Given the description of an element on the screen output the (x, y) to click on. 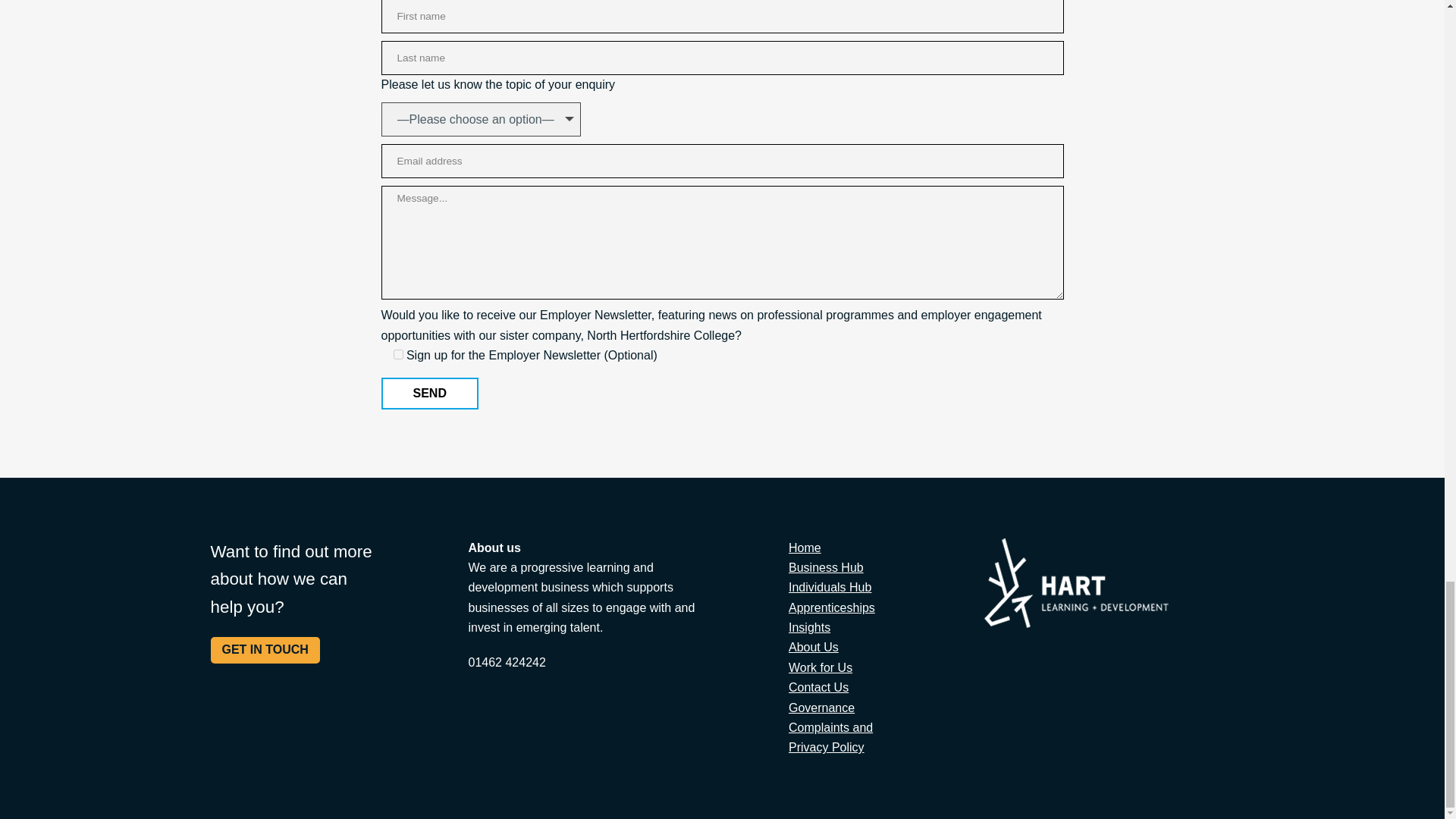
Complaints and Privacy Policy (830, 737)
1 (398, 354)
Governance (821, 707)
Home (805, 547)
GET IN TOUCH (265, 649)
Send (428, 393)
Individuals Hub (829, 586)
Insights (809, 626)
Work for Us (820, 667)
Contact Us (818, 686)
Apprenticeships (832, 607)
Send (428, 393)
Business Hub (826, 567)
About Us (813, 646)
